Given the description of an element on the screen output the (x, y) to click on. 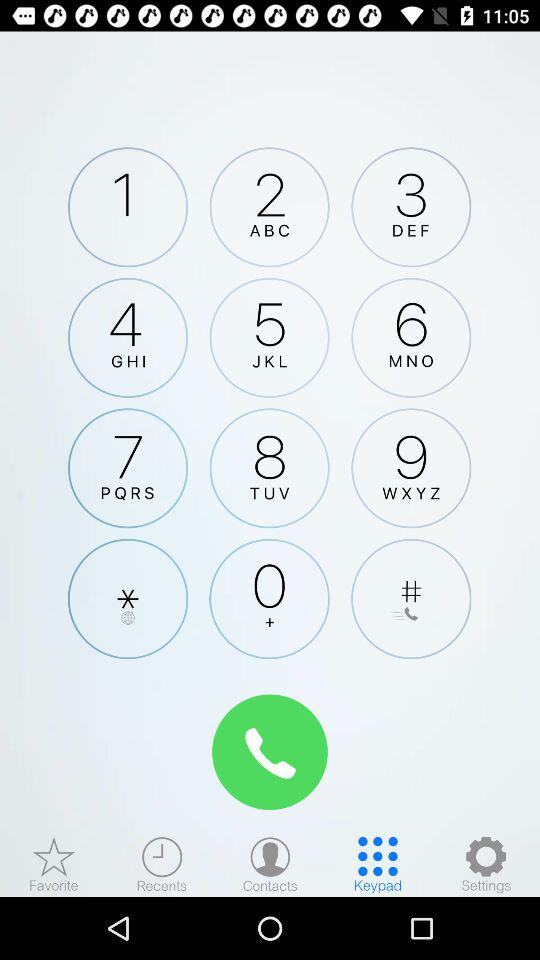
tap 5 (269, 337)
